Given the description of an element on the screen output the (x, y) to click on. 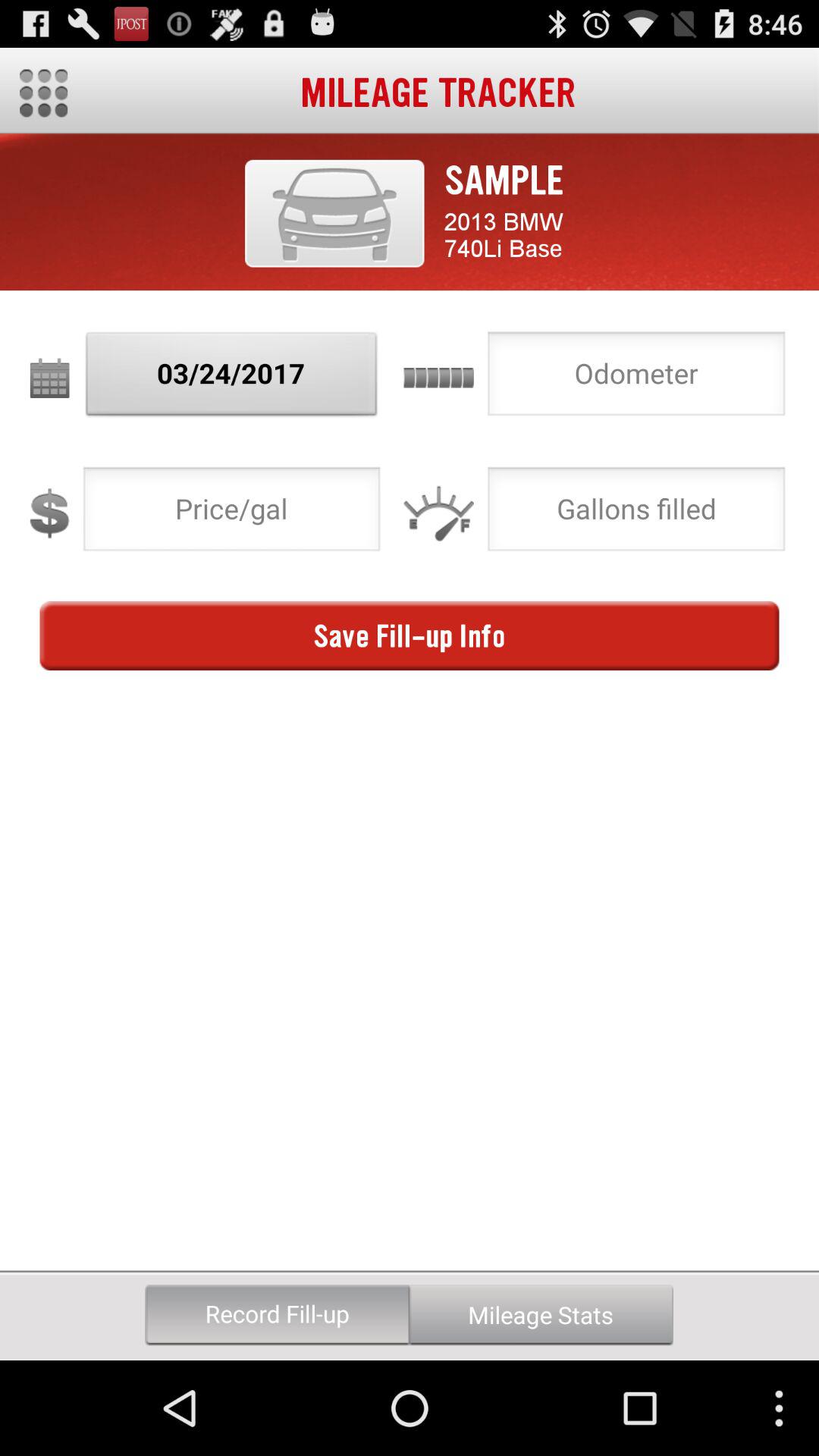
select button above the 03/24/2017 button (334, 213)
